Given the description of an element on the screen output the (x, y) to click on. 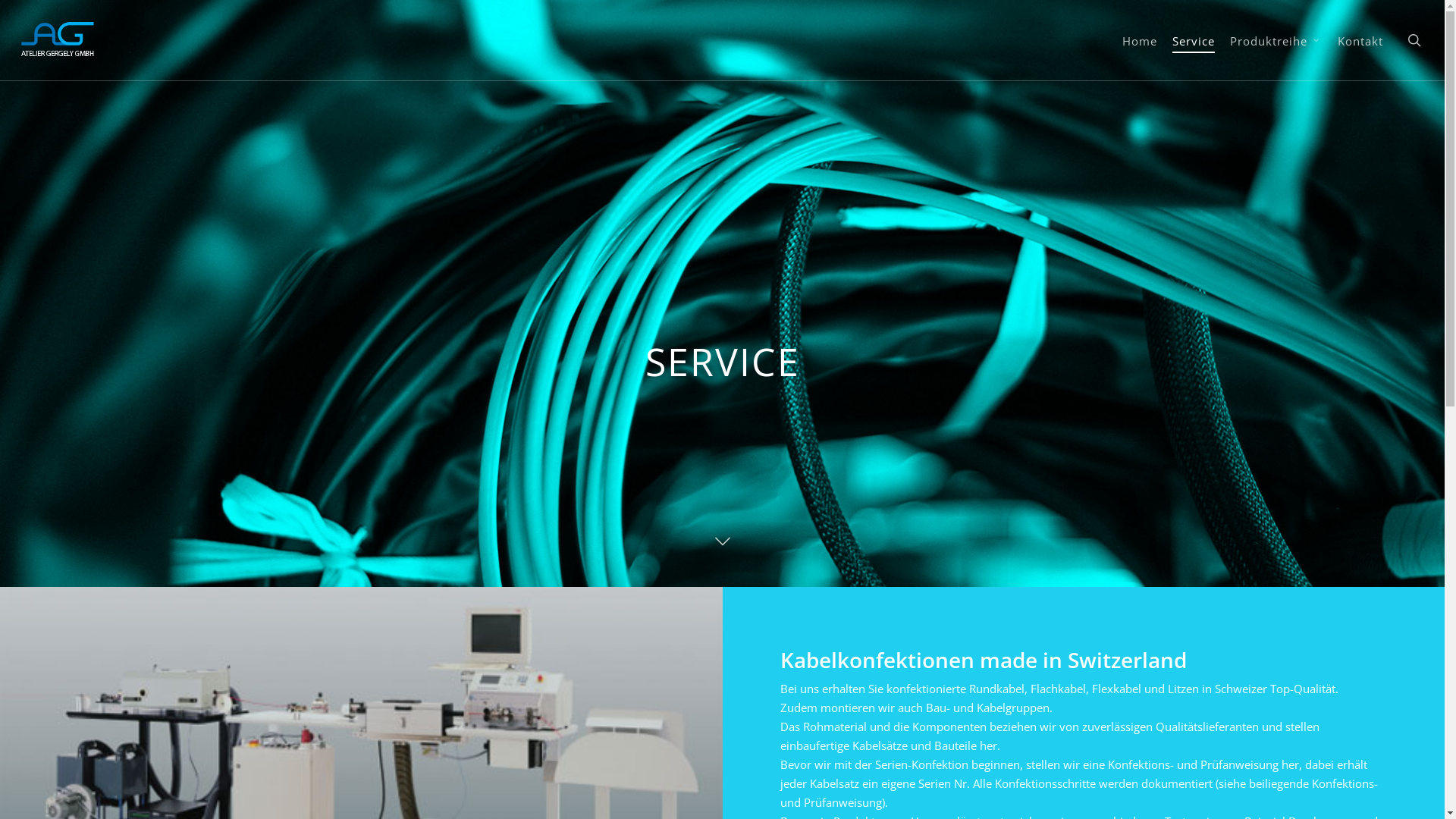
atelier.gergely@vtxmail.ch Element type: text (357, 657)
Produktreihe Element type: text (1276, 40)
Kontakt Element type: text (1360, 40)
search Element type: text (1414, 39)
Home Element type: text (1139, 40)
Service Element type: text (1193, 40)
info@ateliergergely.sk Element type: text (667, 657)
cudo46@outlook.com Element type: text (307, 676)
